Given the description of an element on the screen output the (x, y) to click on. 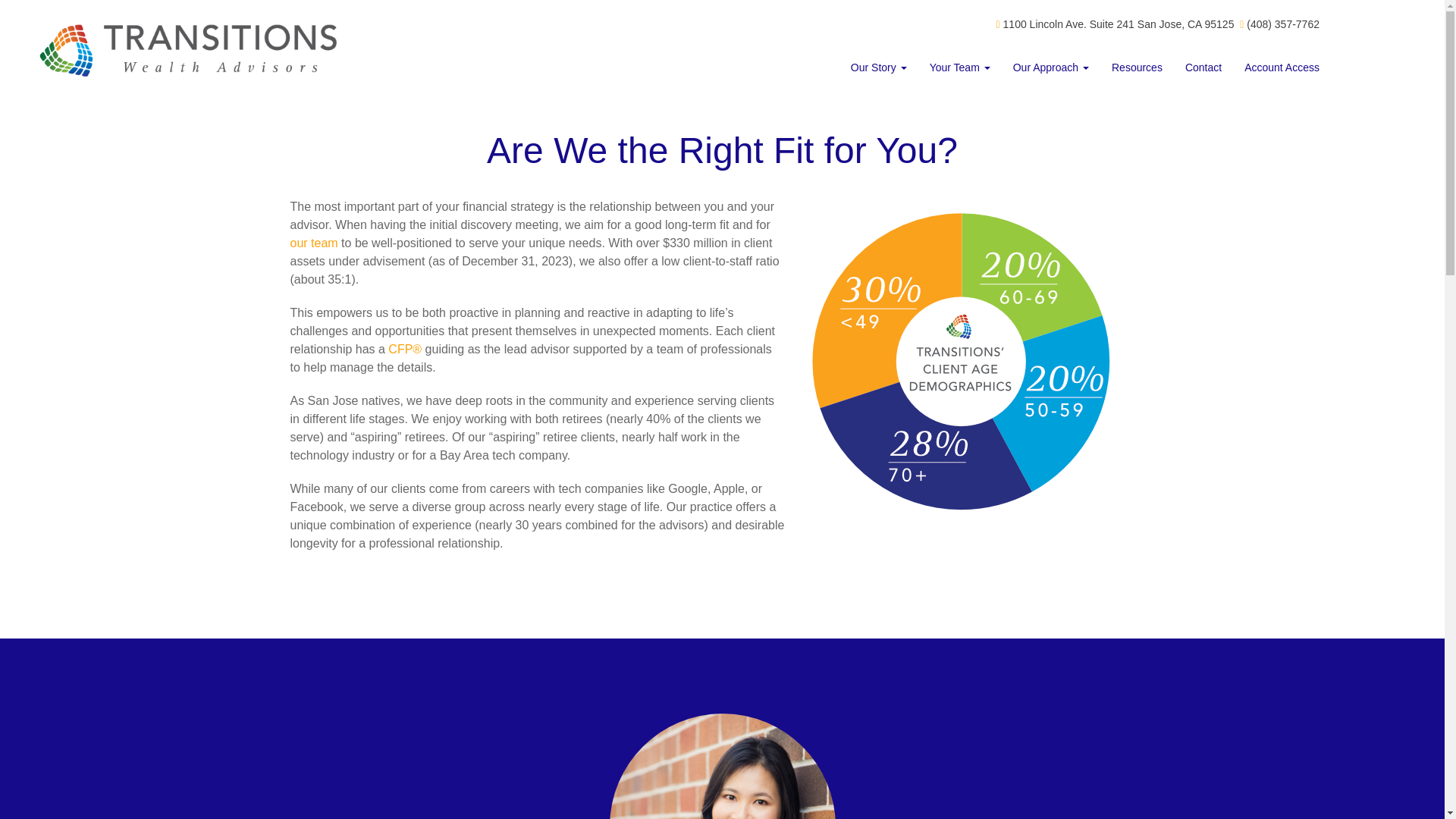
Our Story (879, 67)
Your Team (959, 67)
Your Team (959, 67)
Contact (1203, 67)
our team (313, 242)
Resources (1136, 67)
Our Approach (1050, 67)
Our Story (879, 67)
Our Approach (1050, 67)
Transitions Wealth Advisors (240, 50)
